Given the description of an element on the screen output the (x, y) to click on. 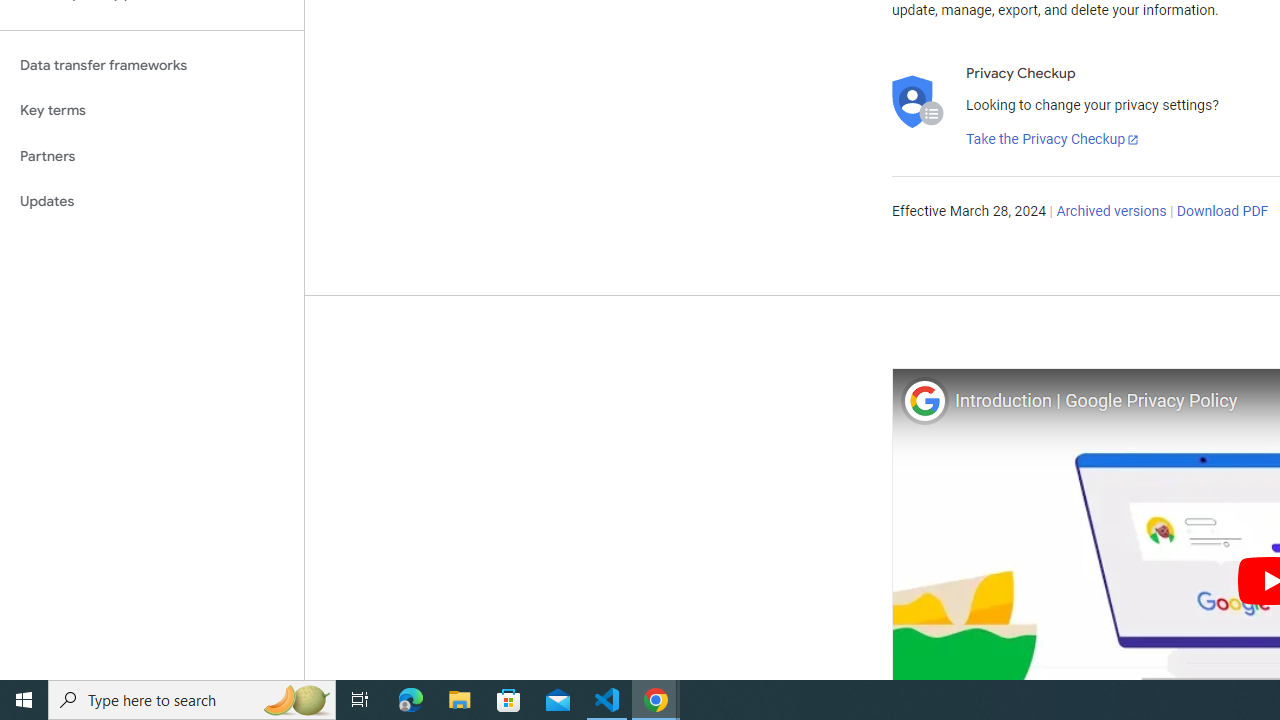
Key terms (152, 110)
Partners (152, 156)
Download PDF (1222, 212)
Updates (152, 201)
Archived versions (1111, 212)
Data transfer frameworks (152, 65)
Take the Privacy Checkup (1053, 140)
Photo image of Google (924, 400)
